Given the description of an element on the screen output the (x, y) to click on. 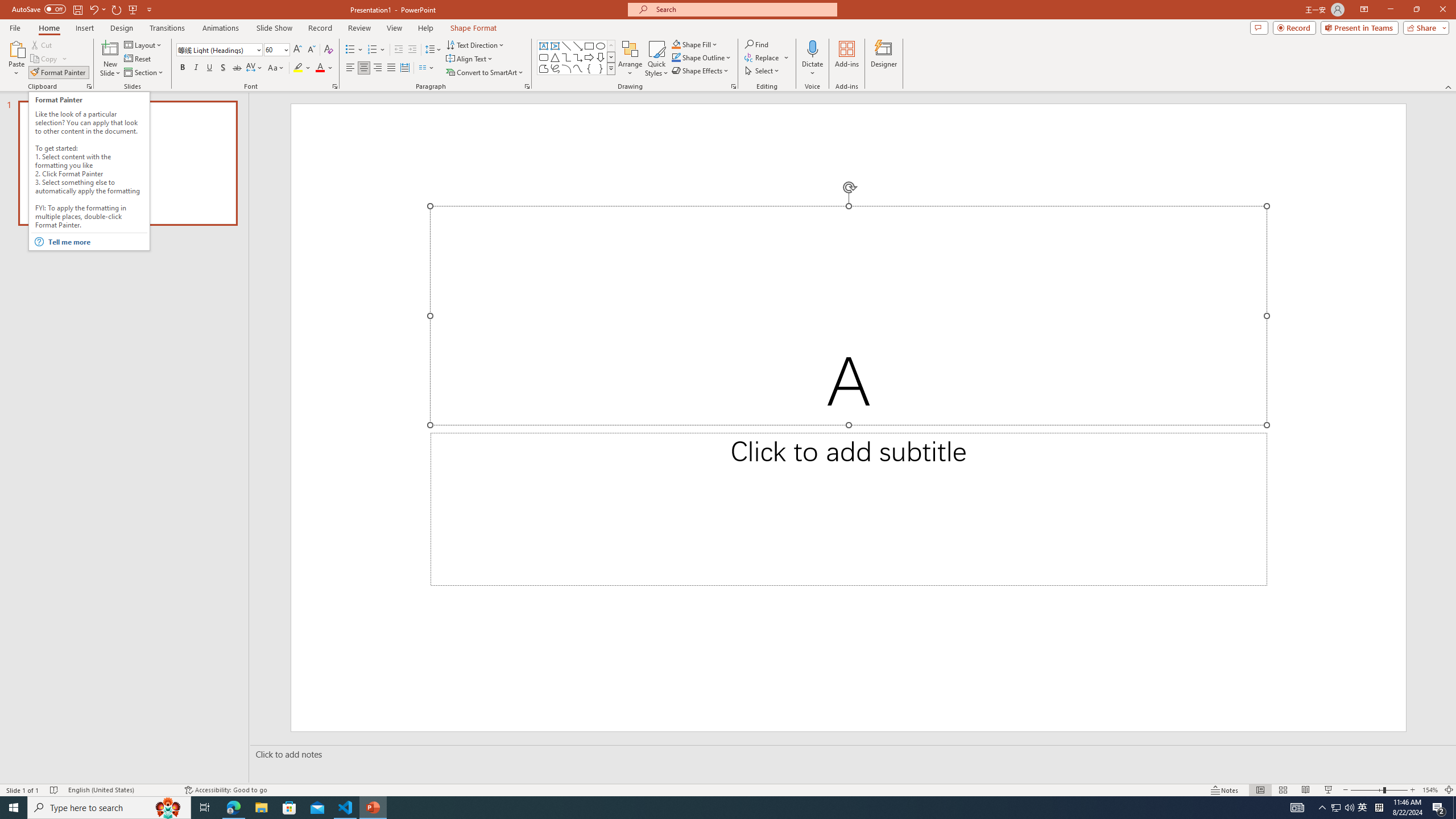
Italic (195, 67)
Minimize (1390, 9)
Paste (16, 58)
Curve (577, 68)
Rectangle: Rounded Corners (543, 57)
Dictate (812, 48)
Decrease Indent (398, 49)
Layout (143, 44)
Reading View (1305, 790)
Section (144, 72)
Shape Effects (700, 69)
Undo (96, 9)
Line (566, 45)
Align Left (349, 67)
Freeform: Shape (543, 68)
